Given the description of an element on the screen output the (x, y) to click on. 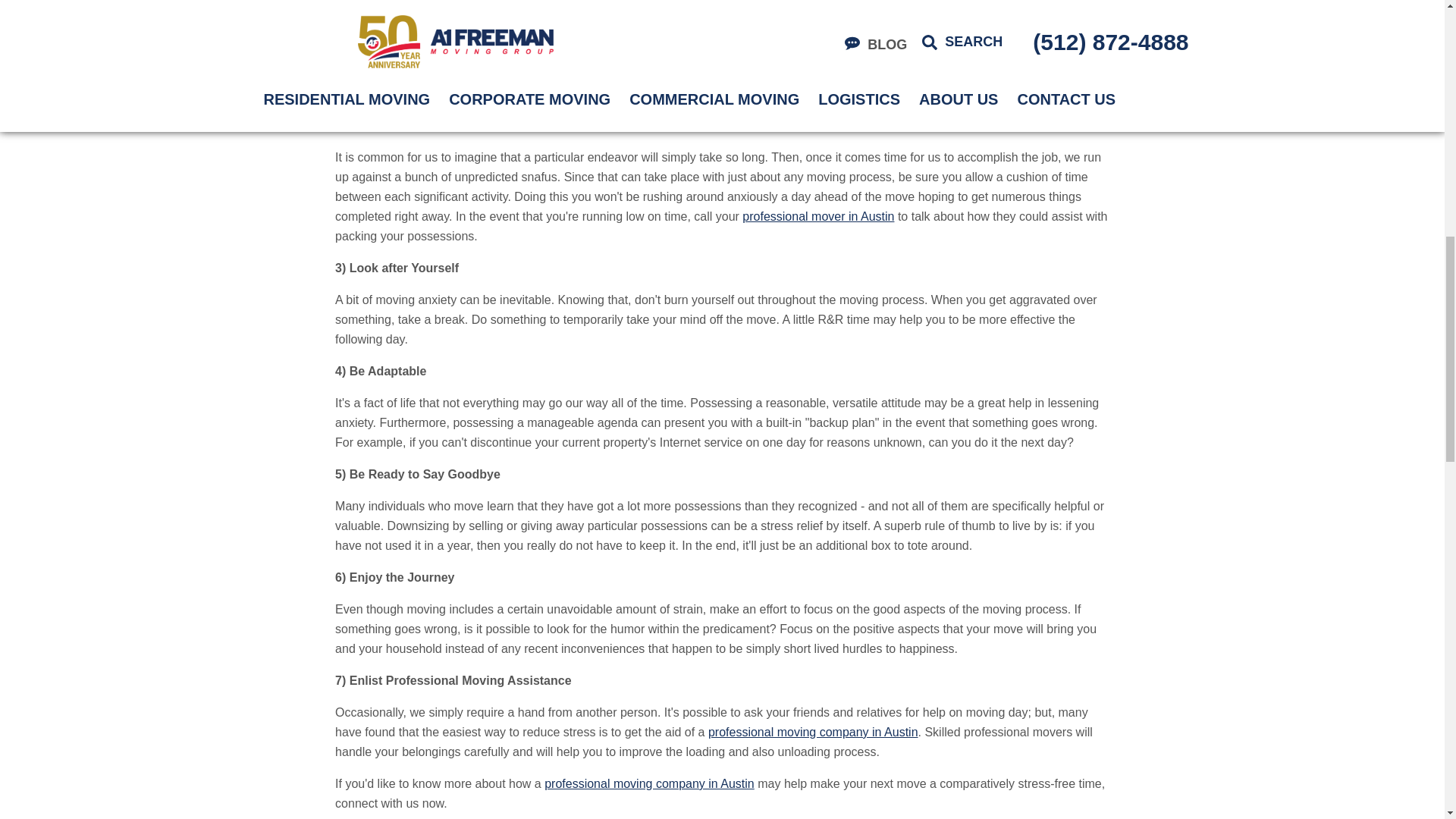
Residential Movers (604, 92)
Residential Movers (649, 783)
Residential Movers (817, 215)
Residential Movers (812, 731)
